Given the description of an element on the screen output the (x, y) to click on. 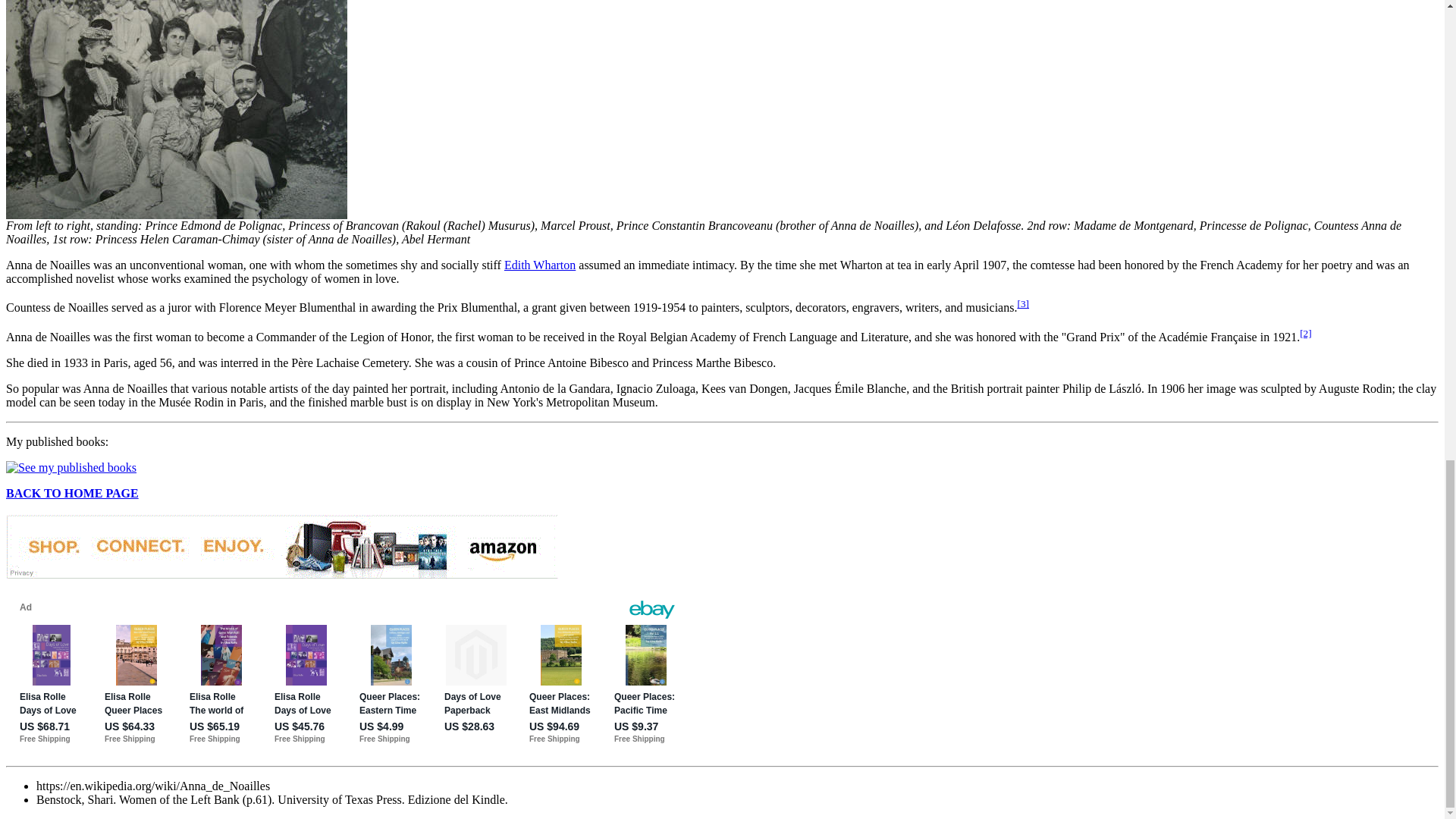
See my published books (70, 468)
BACK TO HOME PAGE (71, 492)
Edith Wharton (539, 264)
